Given the description of an element on the screen output the (x, y) to click on. 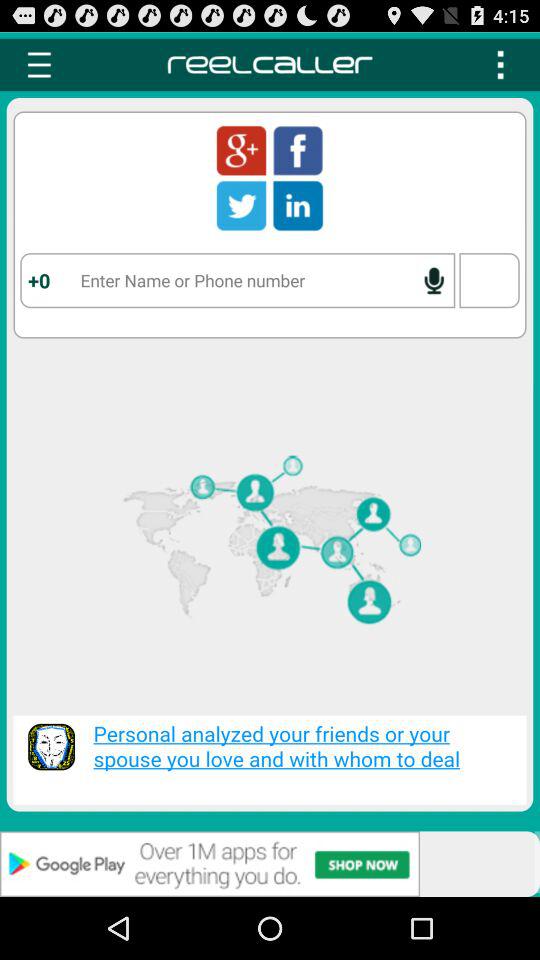
enable speech to text (434, 280)
